Given the description of an element on the screen output the (x, y) to click on. 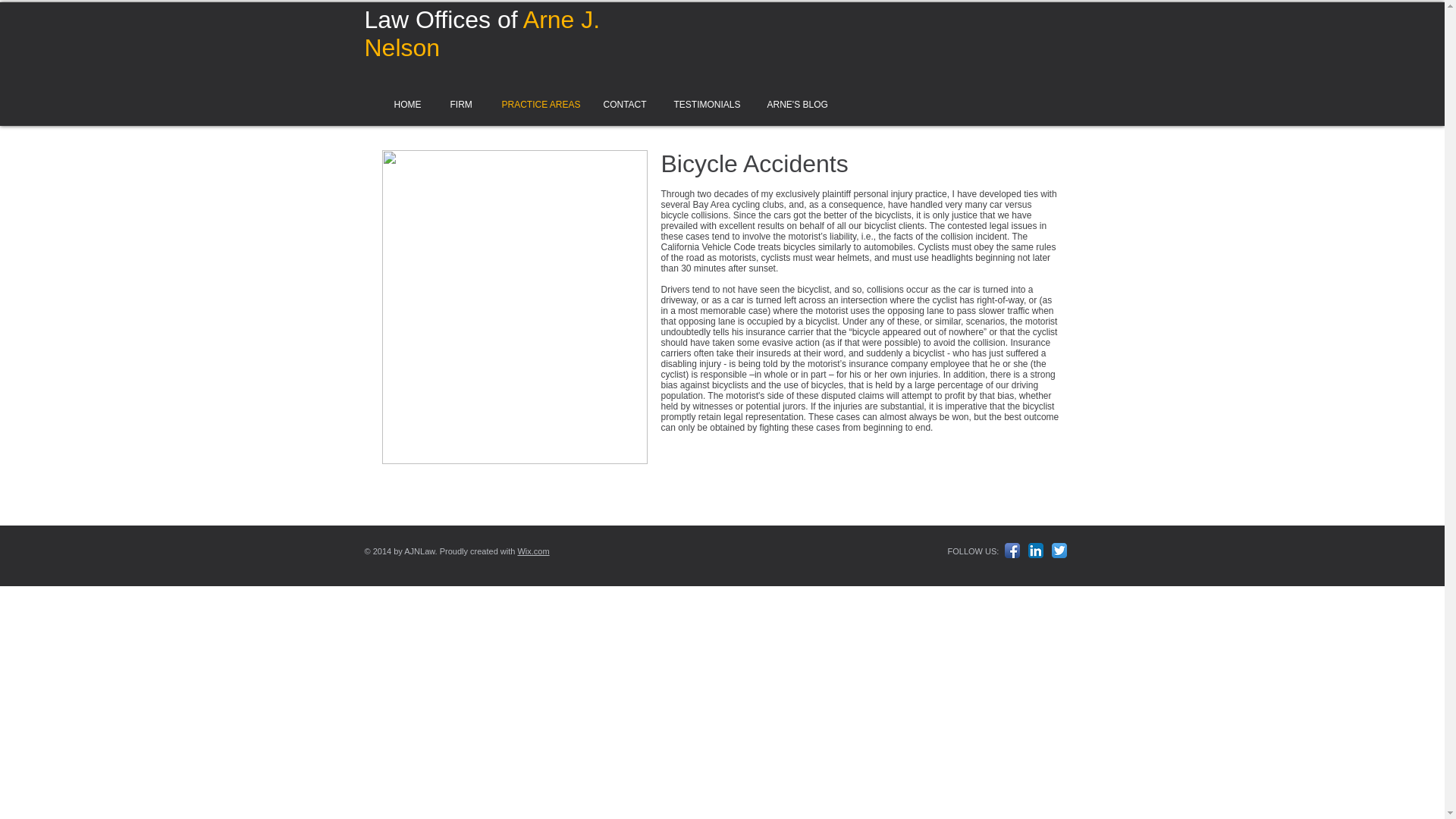
ARNE'S BLOG (794, 104)
TESTIMONIALS (704, 104)
Wix.com (532, 551)
PRACTICE AREAS (535, 104)
FIRM (458, 104)
CONTACT (622, 104)
van and rider after crash.jpg (514, 306)
HOME (405, 104)
